Given the description of an element on the screen output the (x, y) to click on. 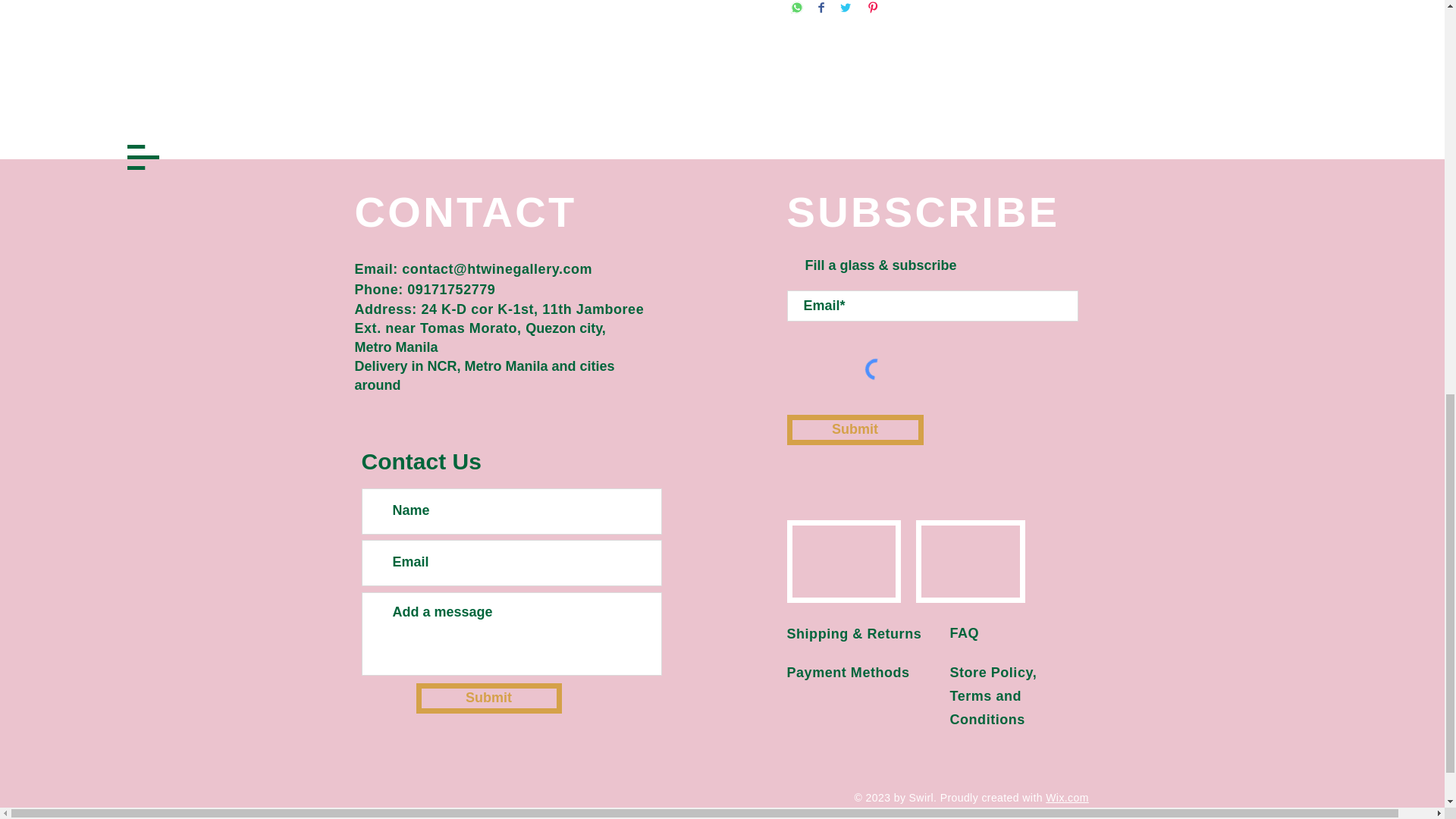
Payment Methods (848, 672)
FAQ (963, 632)
Store Policy, Terms and Conditions (992, 695)
Submit (855, 429)
Submit (487, 698)
Wix.com (1067, 797)
